Given the description of an element on the screen output the (x, y) to click on. 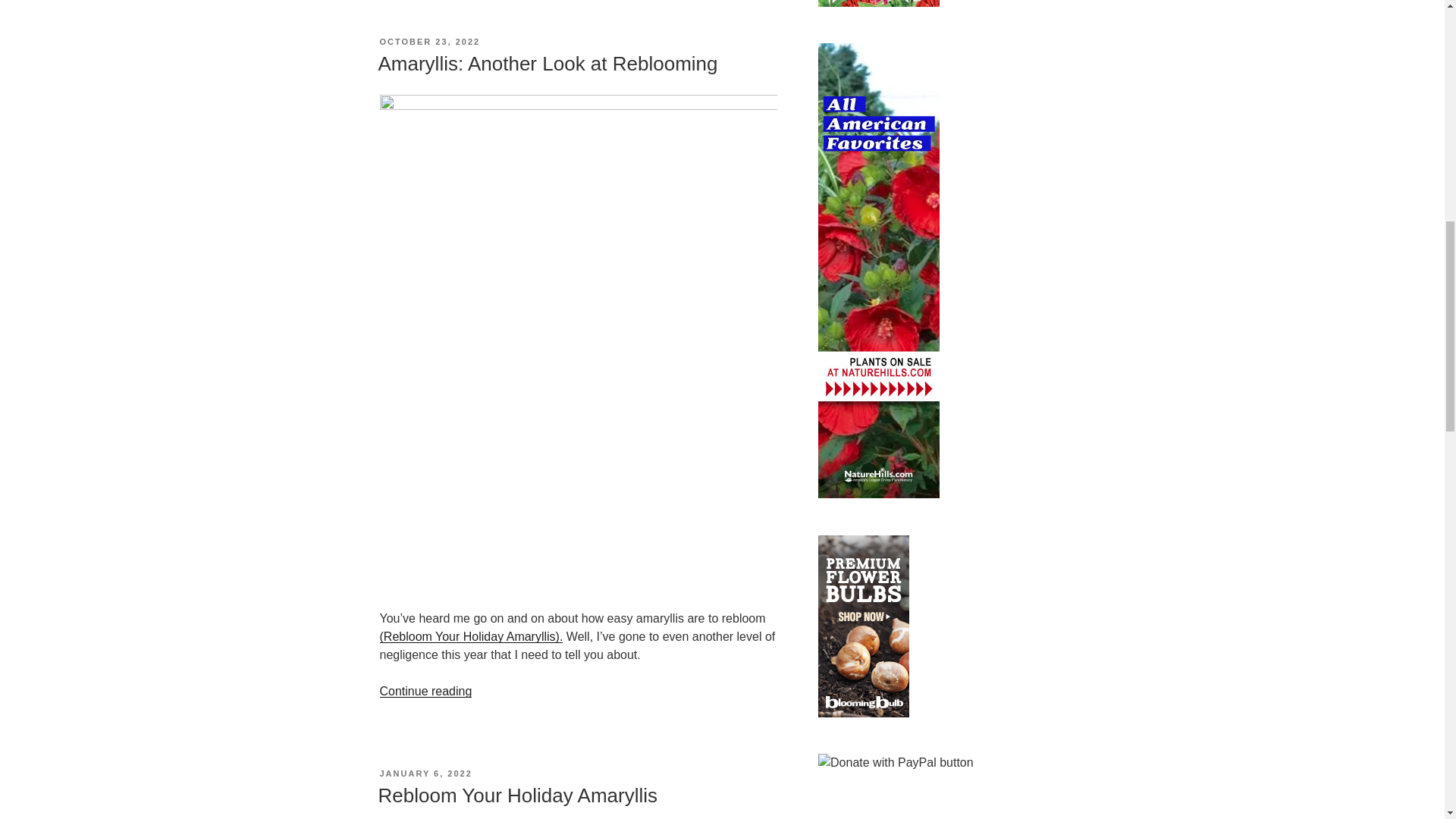
PayPal - The safer, easier way to pay online! (896, 762)
OCTOBER 23, 2022 (429, 40)
Rebloom Your Holiday Amaryllis (517, 794)
Rebloom Your Holiday Amaryllis (470, 635)
JANUARY 6, 2022 (424, 773)
Amaryllis: Another Look at Reblooming (547, 63)
